Given the description of an element on the screen output the (x, y) to click on. 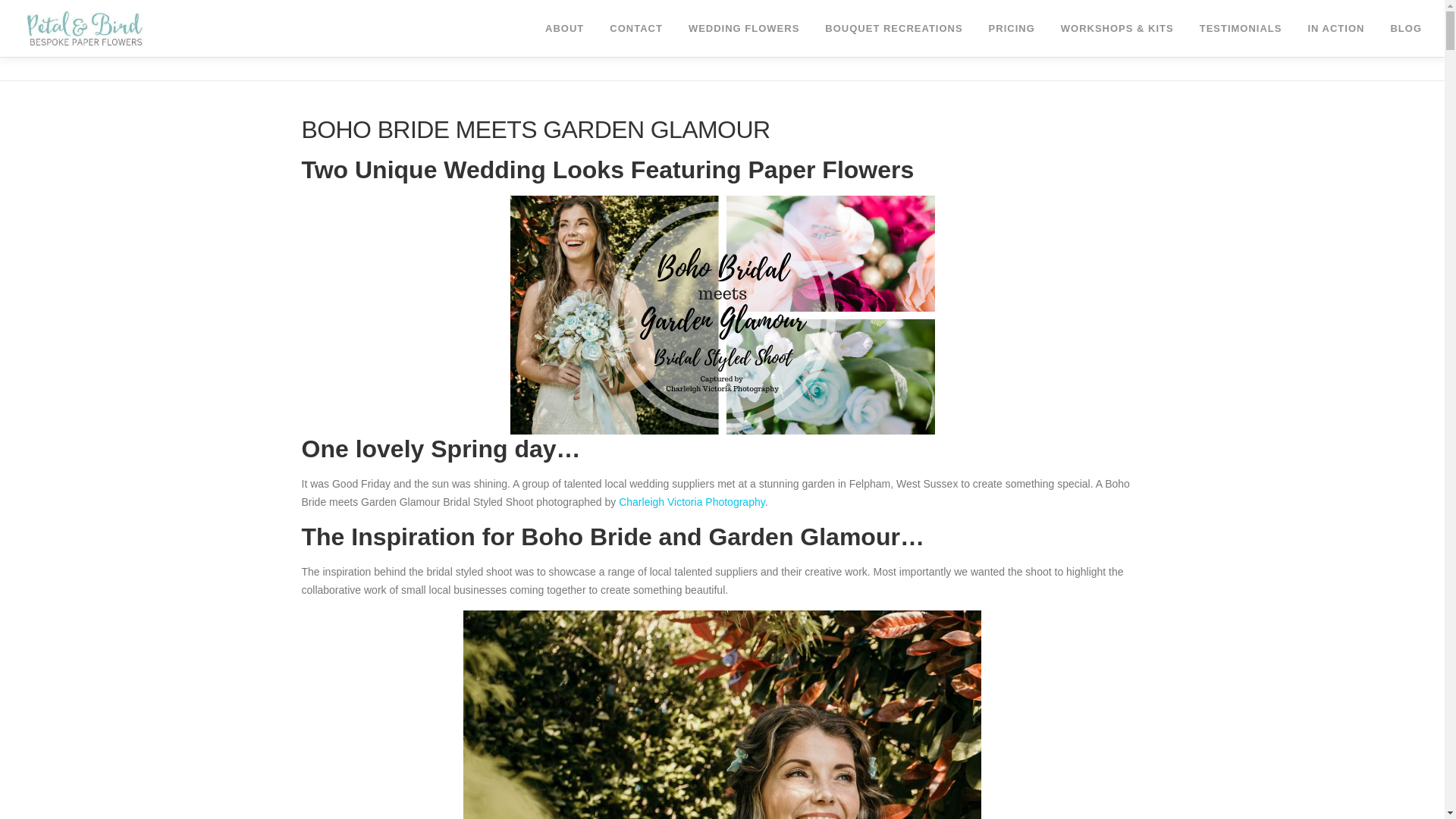
WEDDING FLOWERS (743, 28)
IN ACTION (1335, 28)
ABOUT (564, 28)
Charleigh Victoria Photography (691, 501)
PRICING (1011, 28)
TESTIMONIALS (1240, 28)
BOUQUET RECREATIONS (893, 28)
CONTACT (635, 28)
